Given the description of an element on the screen output the (x, y) to click on. 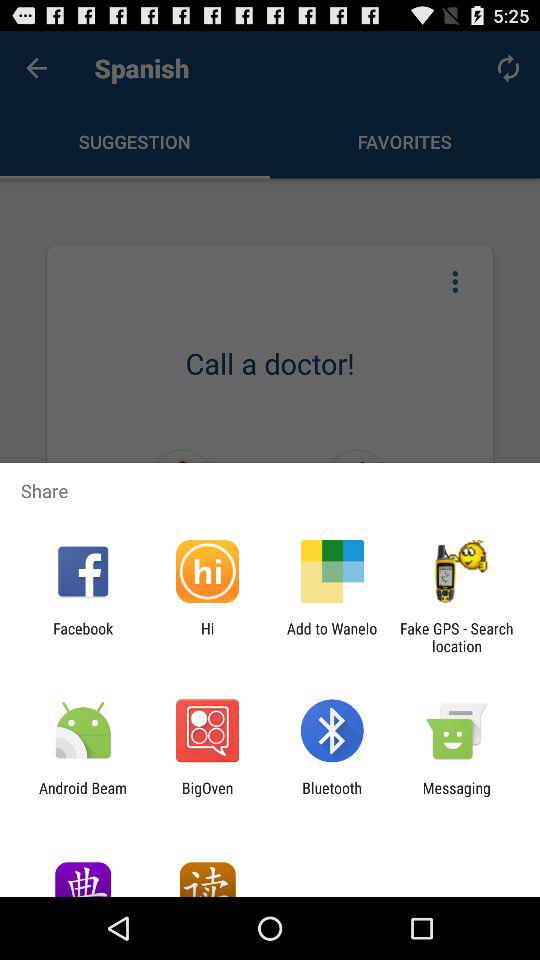
turn off app next to bluetooth app (456, 796)
